Given the description of an element on the screen output the (x, y) to click on. 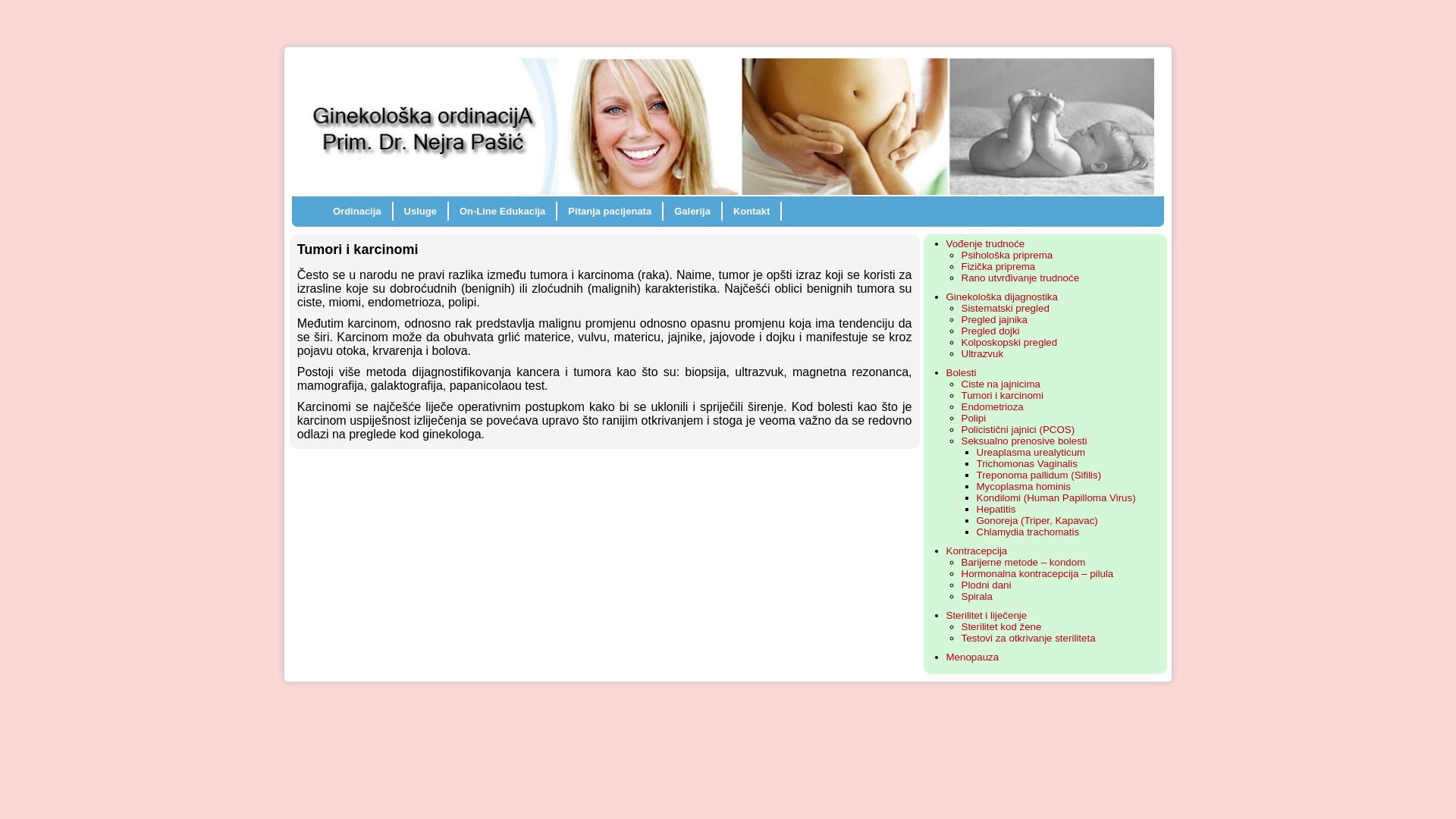
Trichomonas Vaginalis Element type: text (1026, 463)
Mycoplasma hominis Element type: text (1023, 486)
Ciste na jajnicima Element type: text (1000, 383)
Kondilomi (Human Papilloma Virus) Element type: text (1055, 497)
Ultrazvuk Element type: text (982, 353)
Endometrioza Element type: text (992, 406)
Usluge Element type: text (420, 210)
Chlamydia trachomatis Element type: text (1027, 531)
Bolesti Element type: text (961, 372)
Hepatitis Element type: text (996, 508)
Polipi Element type: text (973, 417)
On-Line Edukacija Element type: text (501, 210)
Pitanja pacijenata Element type: text (609, 210)
Galerija Element type: text (692, 210)
Spirala Element type: text (977, 596)
Pregled jajnika Element type: text (994, 319)
Treponoma pallidum (Sifilis) Element type: text (1038, 474)
Ordinacija Element type: text (357, 210)
Kolposkopski pregled Element type: text (1009, 342)
Pregled dojki Element type: text (990, 330)
Plodni dani Element type: text (986, 584)
Sistematski pregled Element type: text (1005, 307)
Testovi za otkrivanje steriliteta Element type: text (1028, 637)
Menopauza Element type: text (972, 656)
Kontakt Element type: text (751, 210)
Seksualno prenosive bolesti Element type: text (1024, 440)
Ureaplasma urealyticum Element type: text (1030, 452)
Gonoreja (Triper, Kapavac) Element type: text (1037, 520)
Tumori i karcinomi Element type: text (1002, 395)
Kontracepcija Element type: text (976, 550)
